Given the description of an element on the screen output the (x, y) to click on. 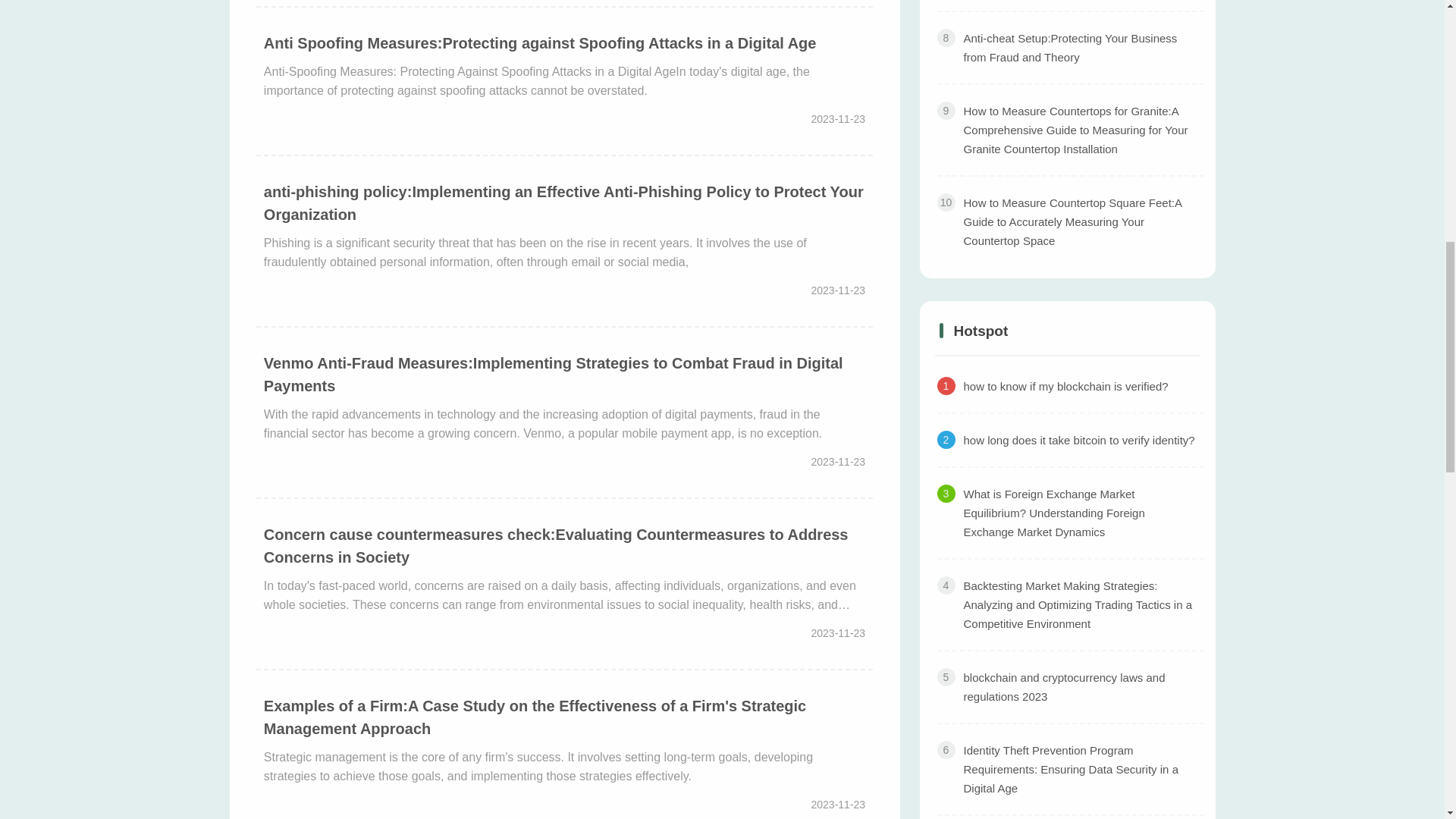
how long does it take bitcoin to verify identity? (1070, 440)
how to know if my blockchain is verified? (1070, 387)
